Given the description of an element on the screen output the (x, y) to click on. 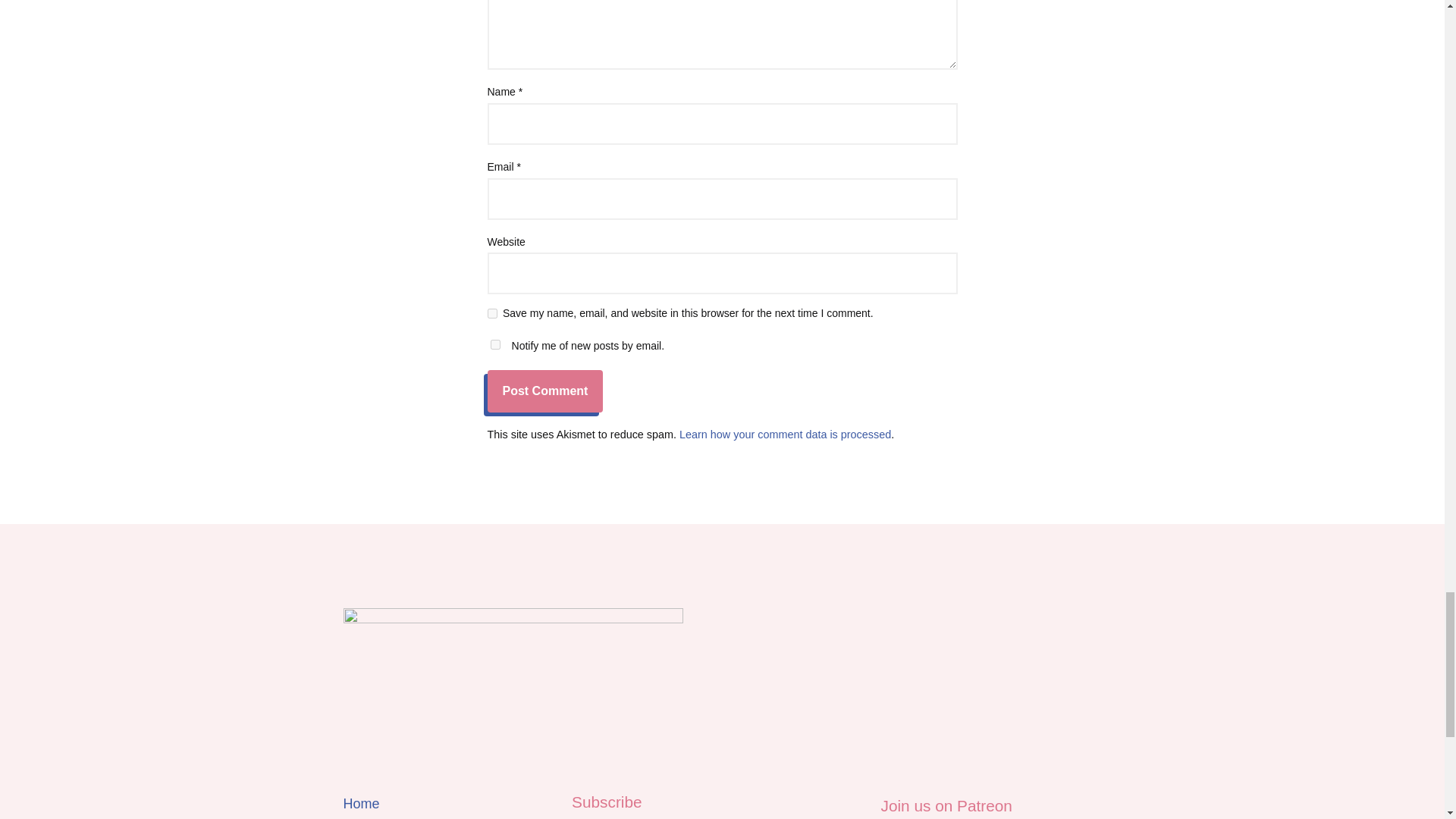
Post Comment (544, 391)
subscribe (494, 344)
Post Comment (544, 391)
yes (491, 313)
